Given the description of an element on the screen output the (x, y) to click on. 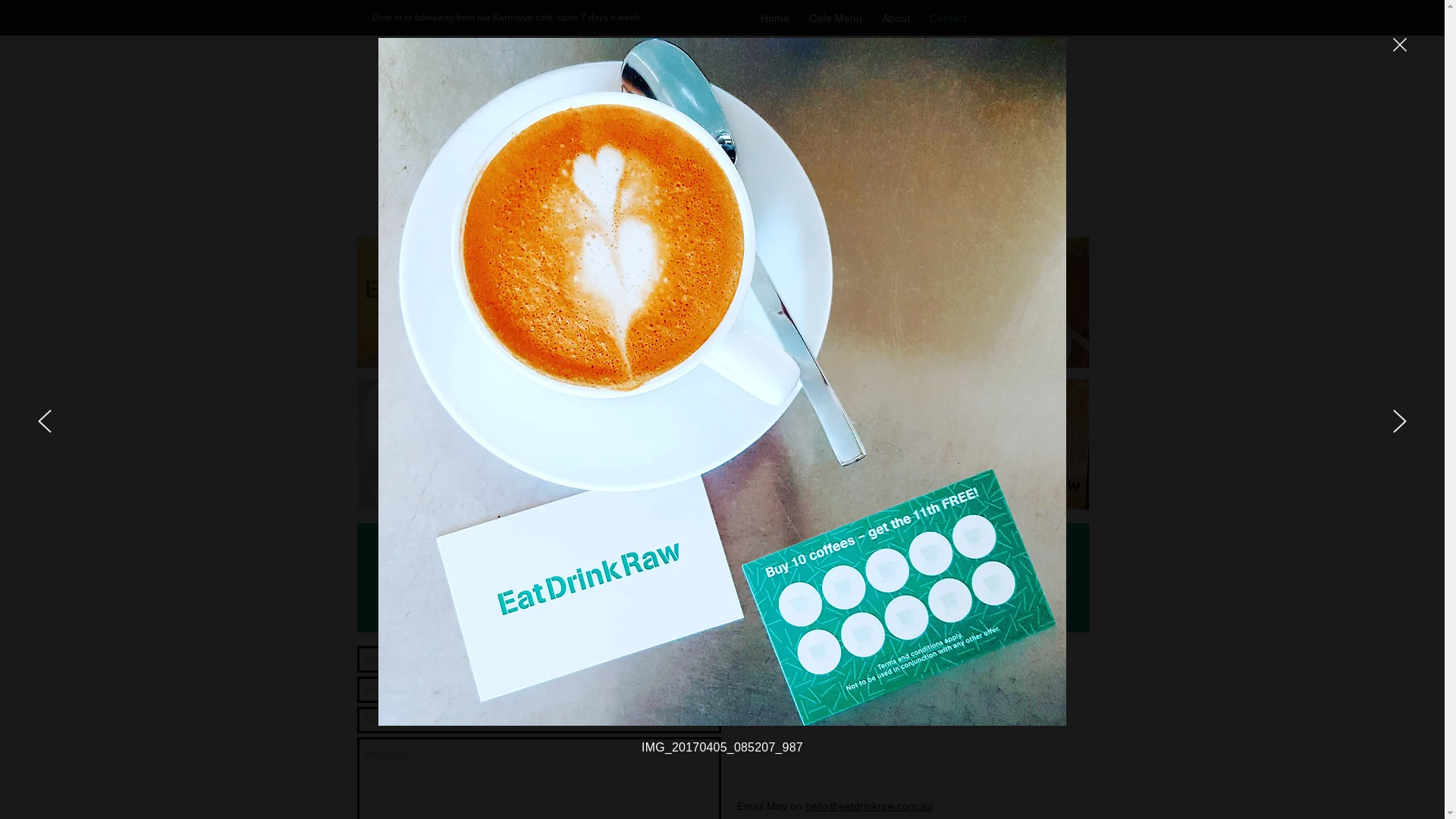
About Element type: text (895, 17)
Cafe Menu Element type: text (835, 17)
Contact Element type: text (947, 17)
Home Element type: text (774, 17)
hello@eatdrinkraw.com.au Element type: text (868, 805)
Google Maps Element type: hover (906, 723)
